Given the description of an element on the screen output the (x, y) to click on. 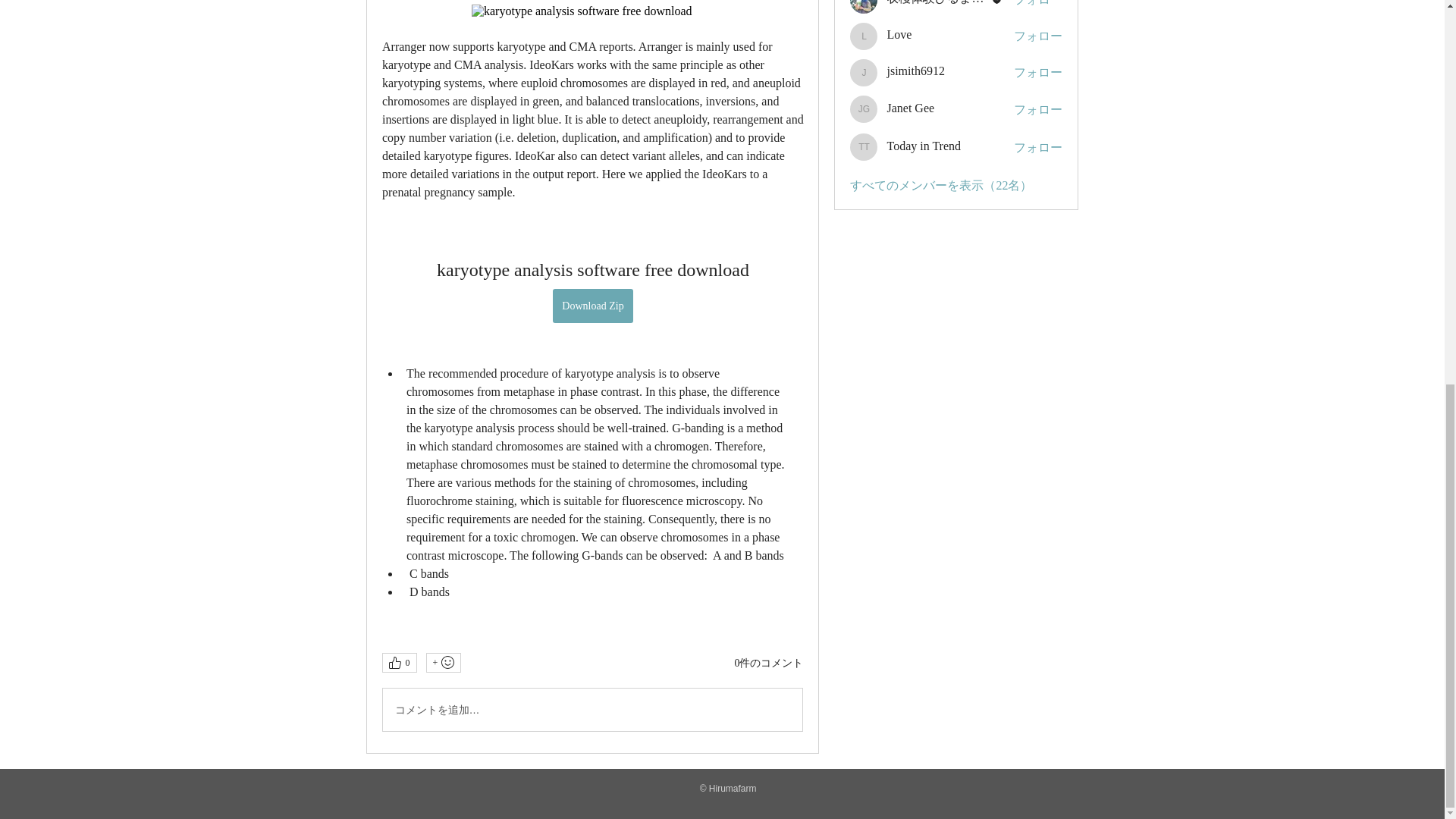
jsimith6912 (863, 72)
Love (863, 35)
remote content (591, 11)
Download Zip (592, 305)
Today in Trend (863, 146)
Janet Gee (863, 108)
jsimith6912 (914, 70)
